Given the description of an element on the screen output the (x, y) to click on. 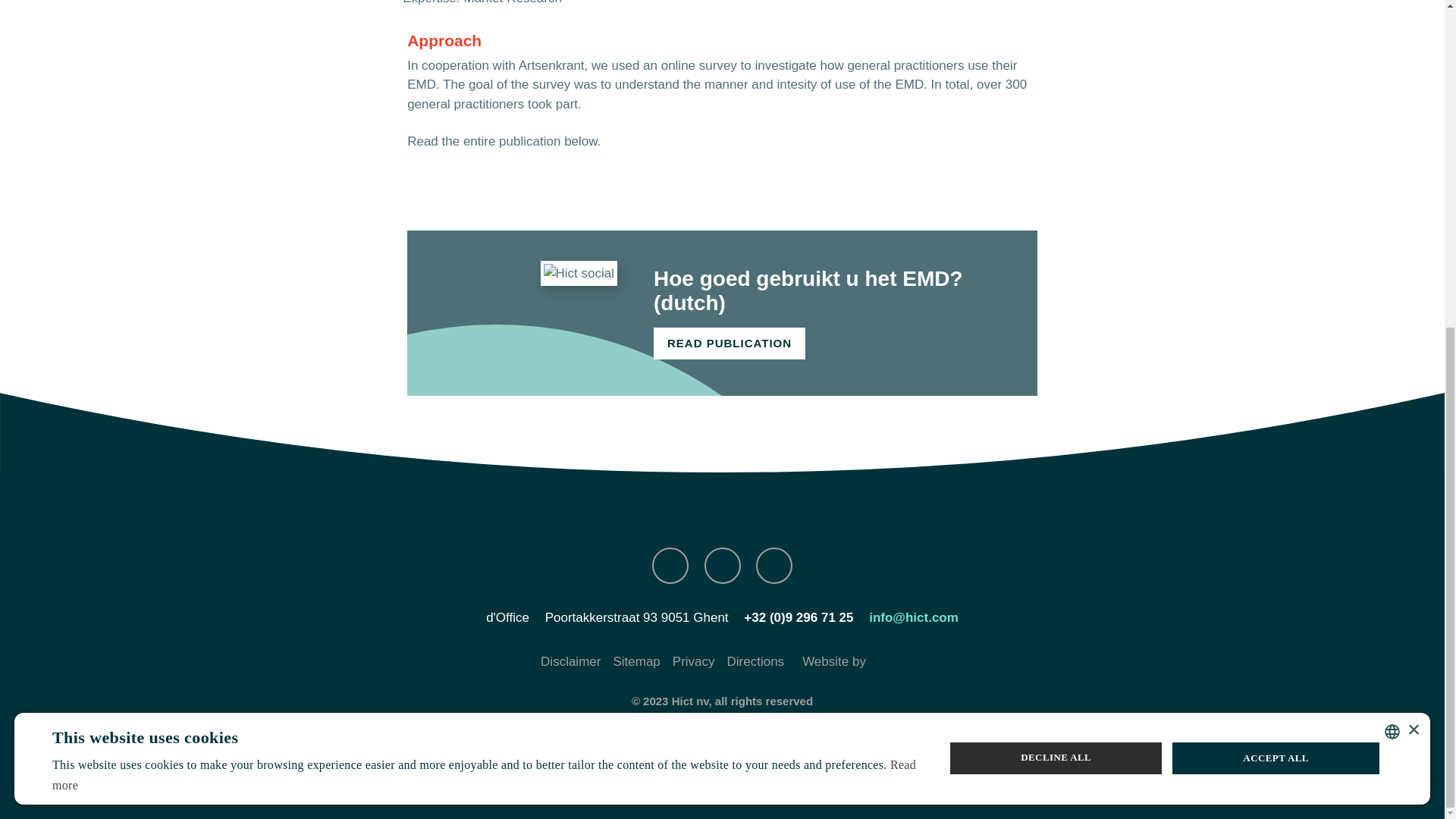
Read Publication (729, 343)
READ PUBLICATION (729, 343)
